Given the description of an element on the screen output the (x, y) to click on. 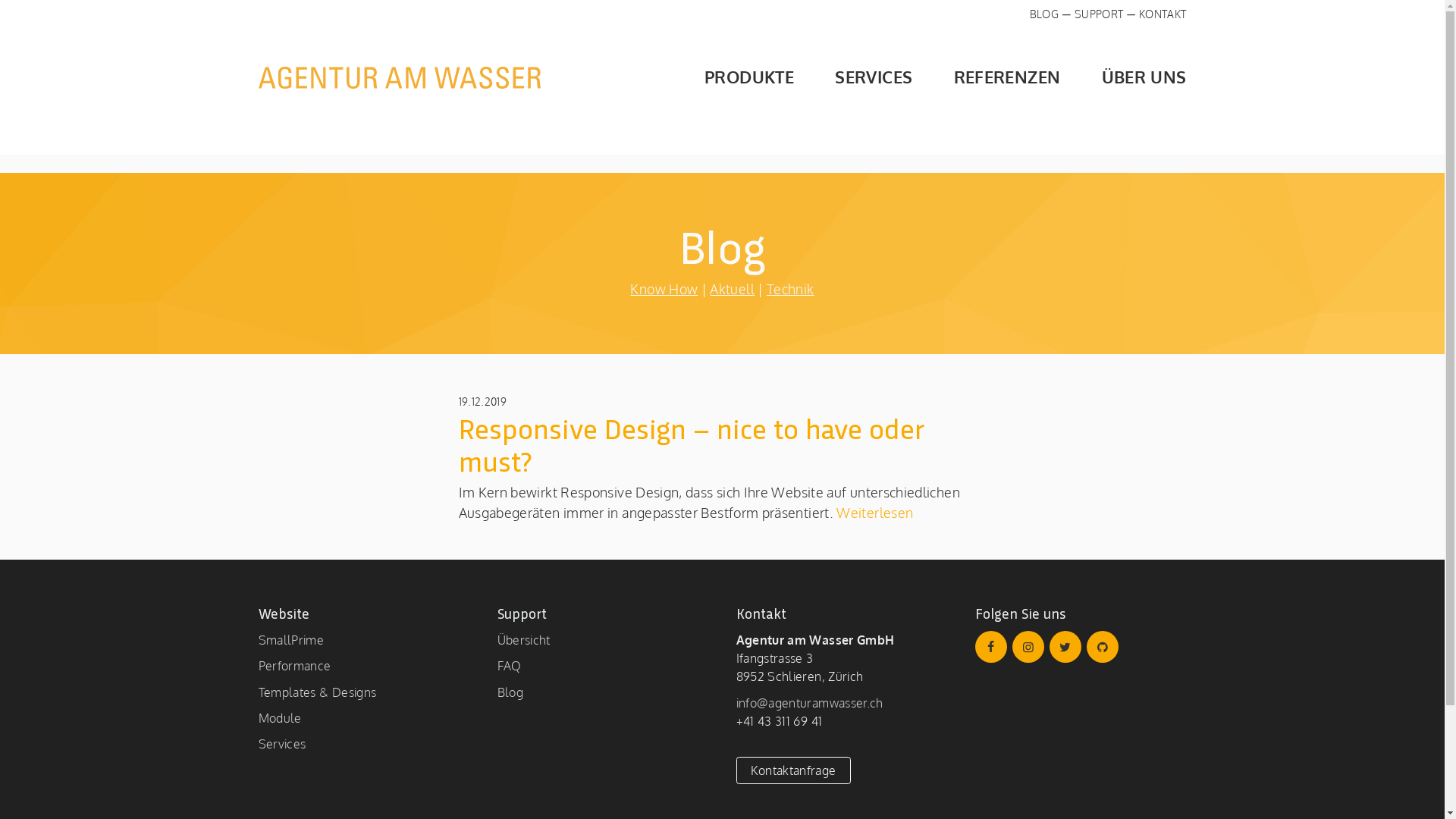
PRODUKTE Element type: text (730, 77)
Kontaktanfrage Element type: text (792, 770)
SUPPORT Element type: text (1098, 13)
Templates & Designs Element type: text (316, 691)
Module Element type: text (279, 717)
FAQ Element type: text (509, 665)
info@agenturamwasser.ch Element type: text (808, 702)
BLOG Element type: text (1043, 13)
Performance Element type: text (293, 665)
Services Element type: text (281, 743)
Technik Element type: text (790, 288)
KONTAKT Element type: text (1162, 13)
SmallPrime Element type: text (290, 639)
Aktuell Element type: text (731, 288)
Know How Element type: text (663, 288)
SERVICES Element type: text (855, 77)
Weiterlesen Element type: text (873, 512)
Blog Element type: text (510, 691)
REFERENZEN Element type: text (988, 77)
